Given the description of an element on the screen output the (x, y) to click on. 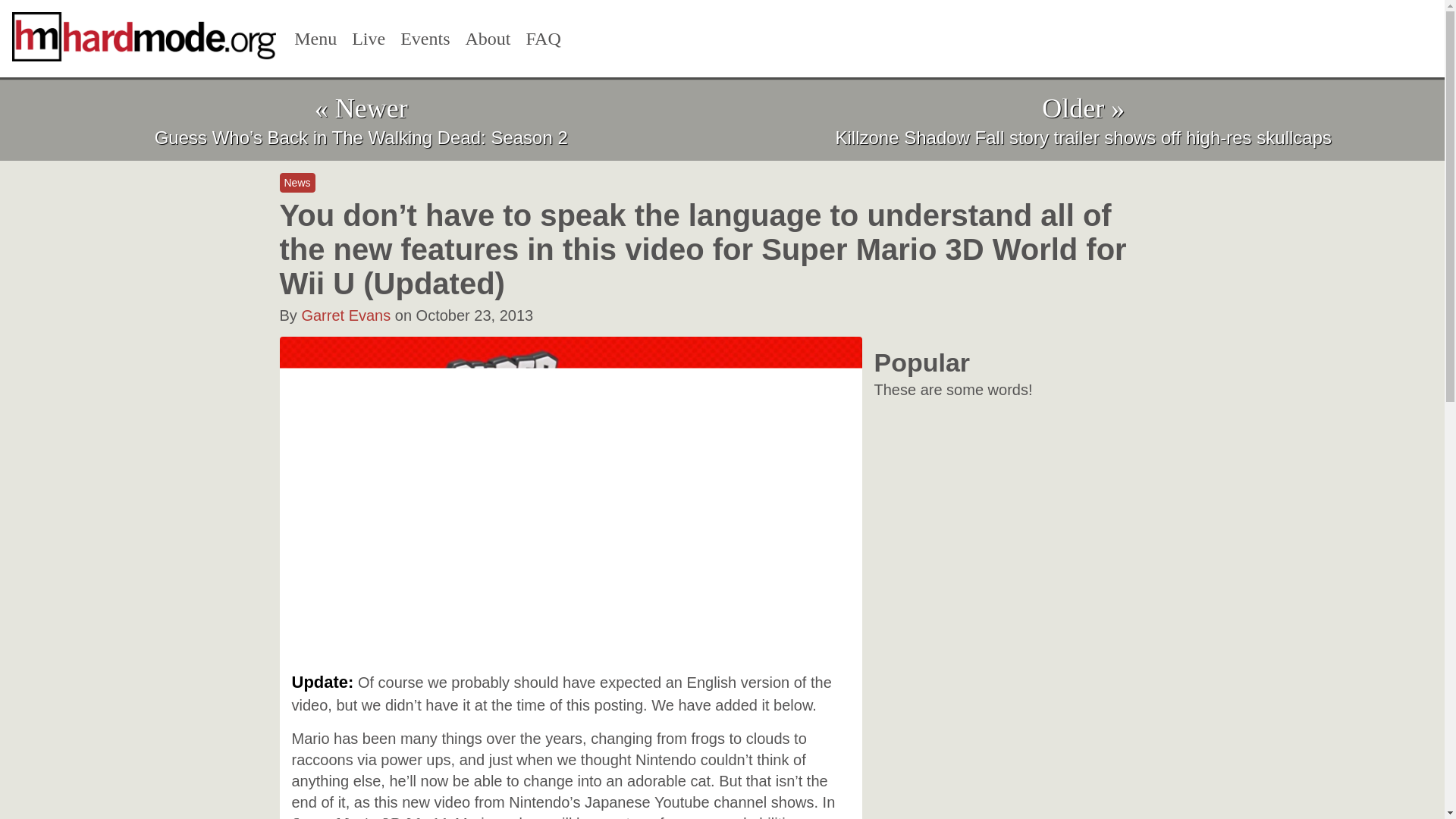
Posts by Garret Evans (345, 315)
FAQ (543, 38)
Live (368, 38)
Menu (315, 38)
News (296, 182)
Garret Evans (345, 315)
About (488, 38)
Events (424, 38)
